Given the description of an element on the screen output the (x, y) to click on. 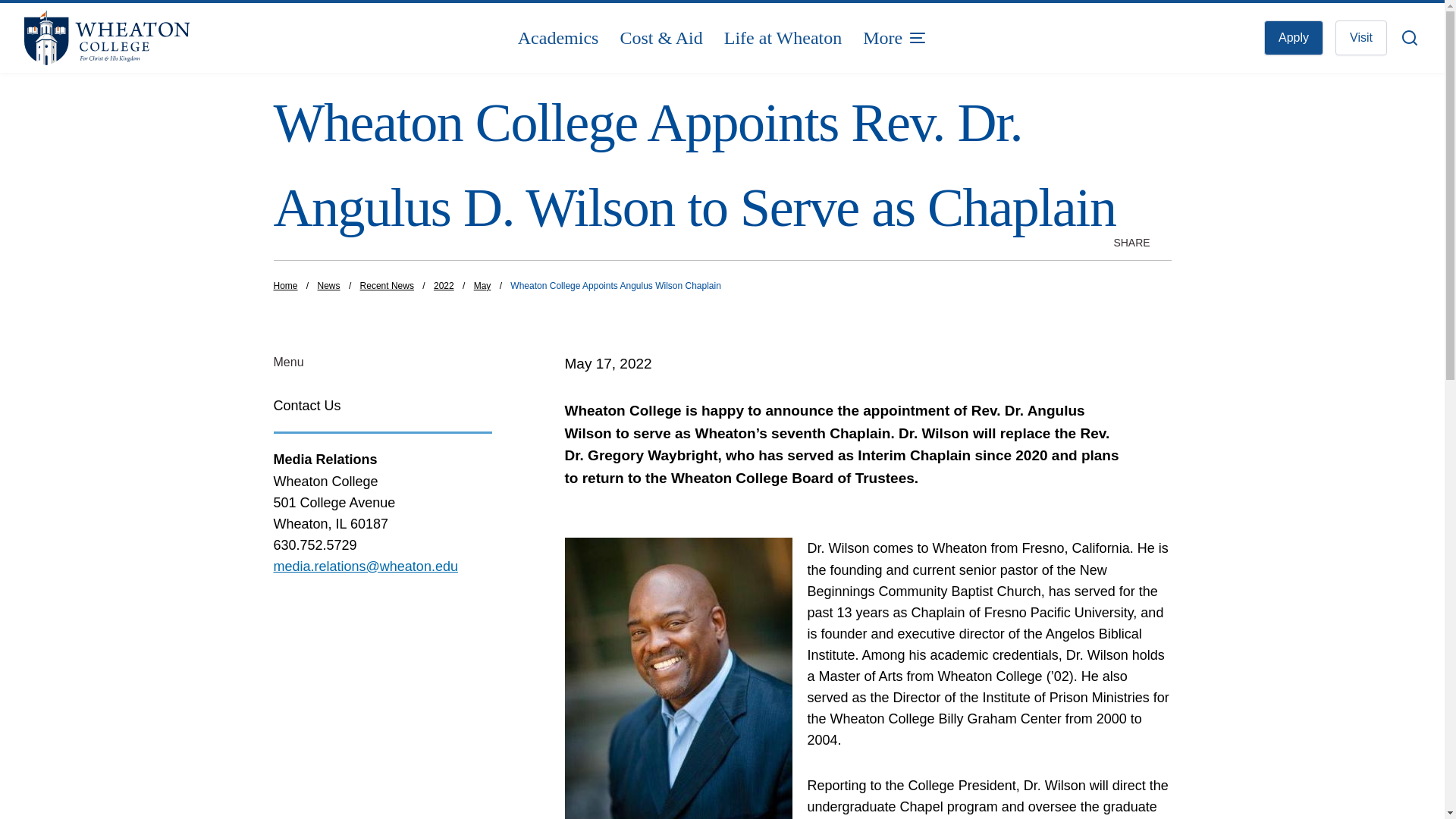
Life at Wheaton (782, 37)
Wheaton College homepage (161, 37)
Academics (557, 37)
More (894, 37)
Visit (1361, 37)
Apply (1293, 37)
